Given the description of an element on the screen output the (x, y) to click on. 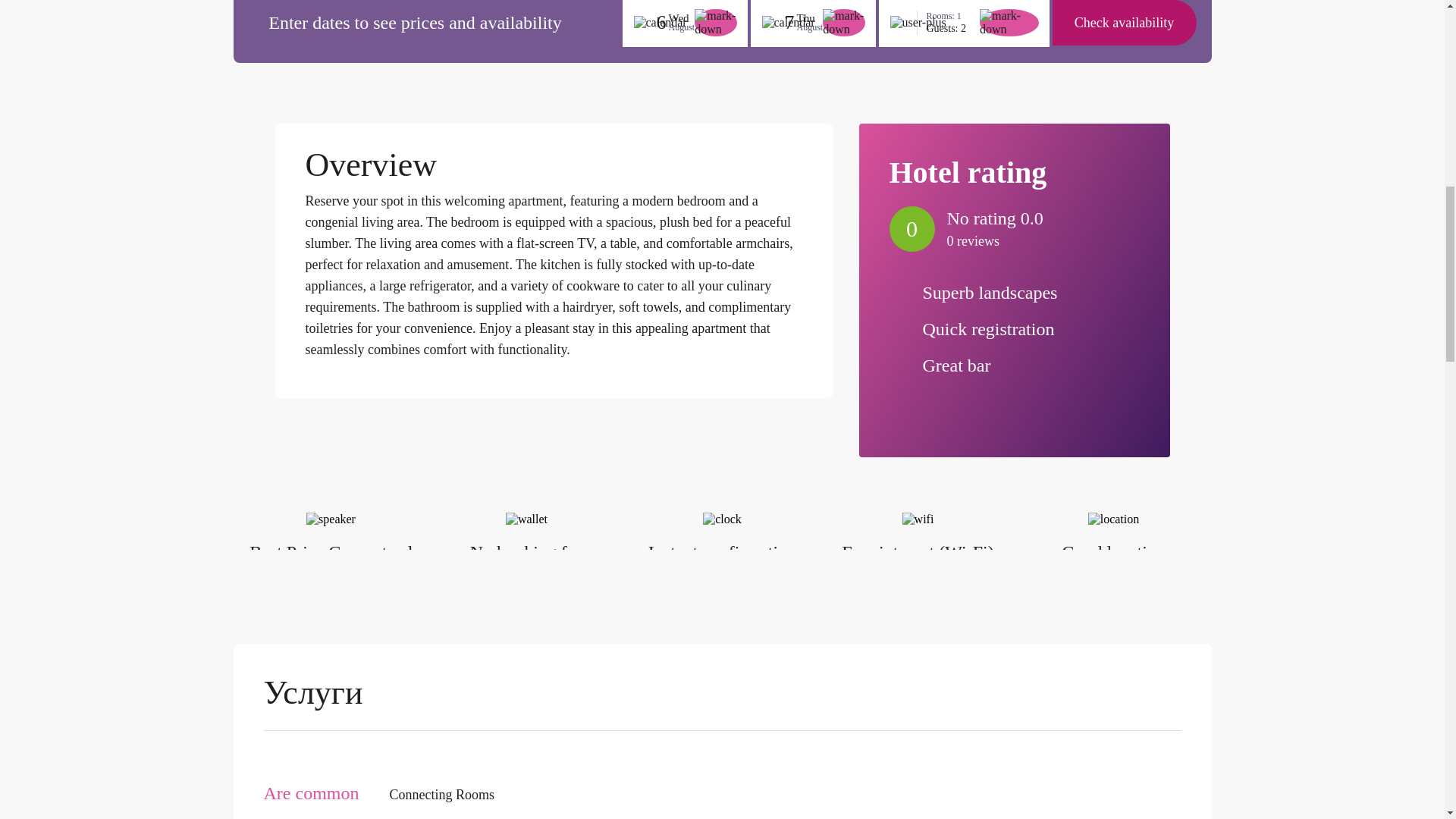
Guests: 2 (949, 28)
Rooms: 1 (949, 16)
Guests: 2 (949, 28)
Rooms: 1 (949, 16)
